Given the description of an element on the screen output the (x, y) to click on. 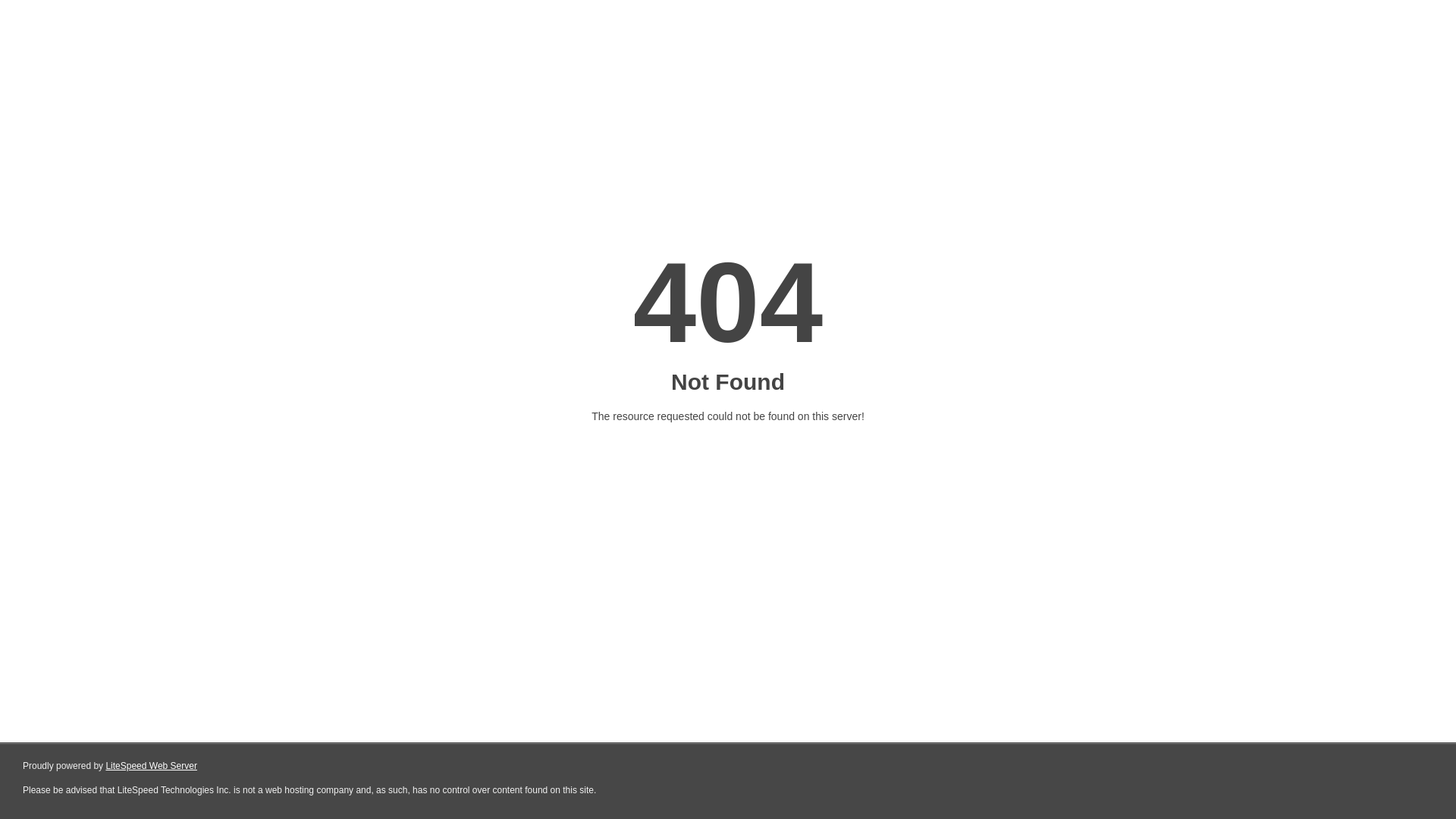
LiteSpeed Web Server Element type: text (151, 765)
